Given the description of an element on the screen output the (x, y) to click on. 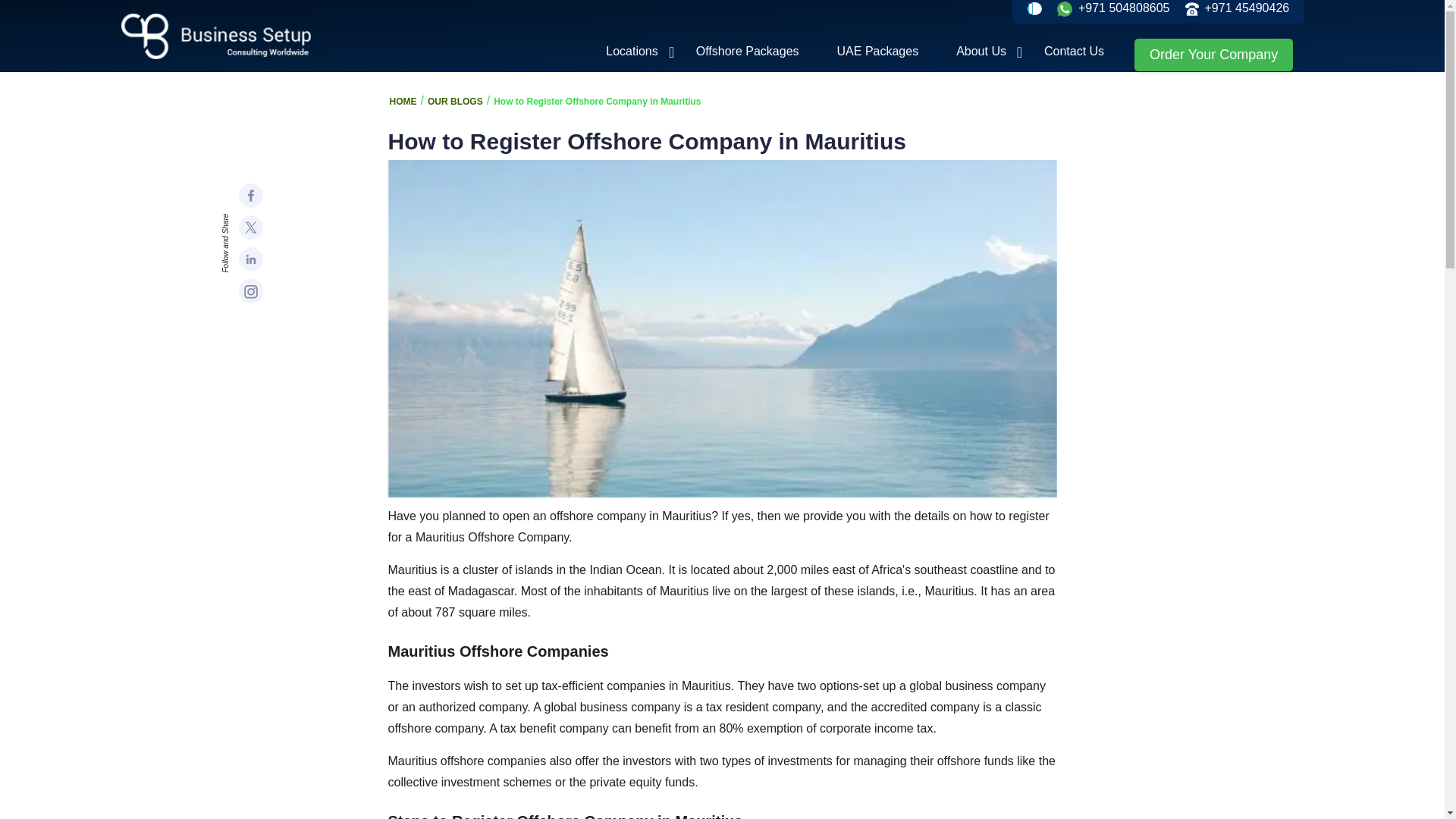
Home (219, 35)
Locations (631, 51)
